Given the description of an element on the screen output the (x, y) to click on. 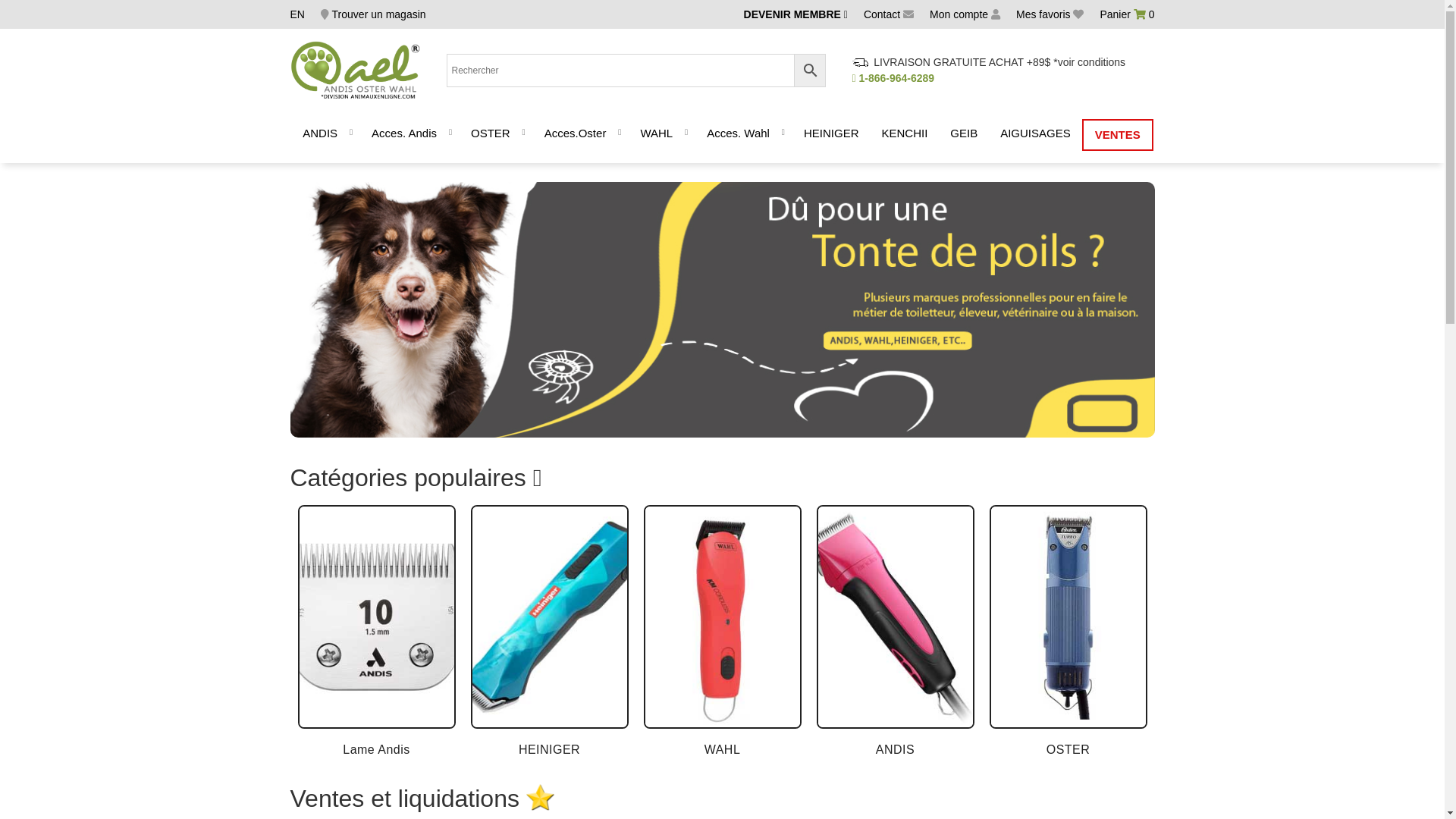
ANDIS Element type: text (319, 134)
VENTES Element type: text (1117, 134)
KENCHII Element type: text (903, 134)
WAHL Element type: text (656, 134)
Trouver un magasin Element type: text (373, 14)
Acces.Oster Element type: text (575, 134)
AIGUISAGES Element type: text (1035, 134)
ANDIS Element type: hover (894, 632)
Contact Element type: text (888, 14)
HEINIGER Element type: text (831, 134)
Panier 0 Element type: text (1126, 14)
GEIB Element type: text (963, 134)
Mon compte Element type: text (964, 14)
Mes favoris Element type: text (1049, 14)
Acces. Wahl Element type: text (738, 134)
Lame Andis Element type: hover (375, 632)
WAHL Element type: hover (721, 632)
EN Element type: text (296, 14)
OSTER Element type: text (490, 134)
OSTER Element type: hover (1067, 632)
HEINIGER Element type: hover (548, 632)
Acces. Andis Element type: text (404, 134)
